Given the description of an element on the screen output the (x, y) to click on. 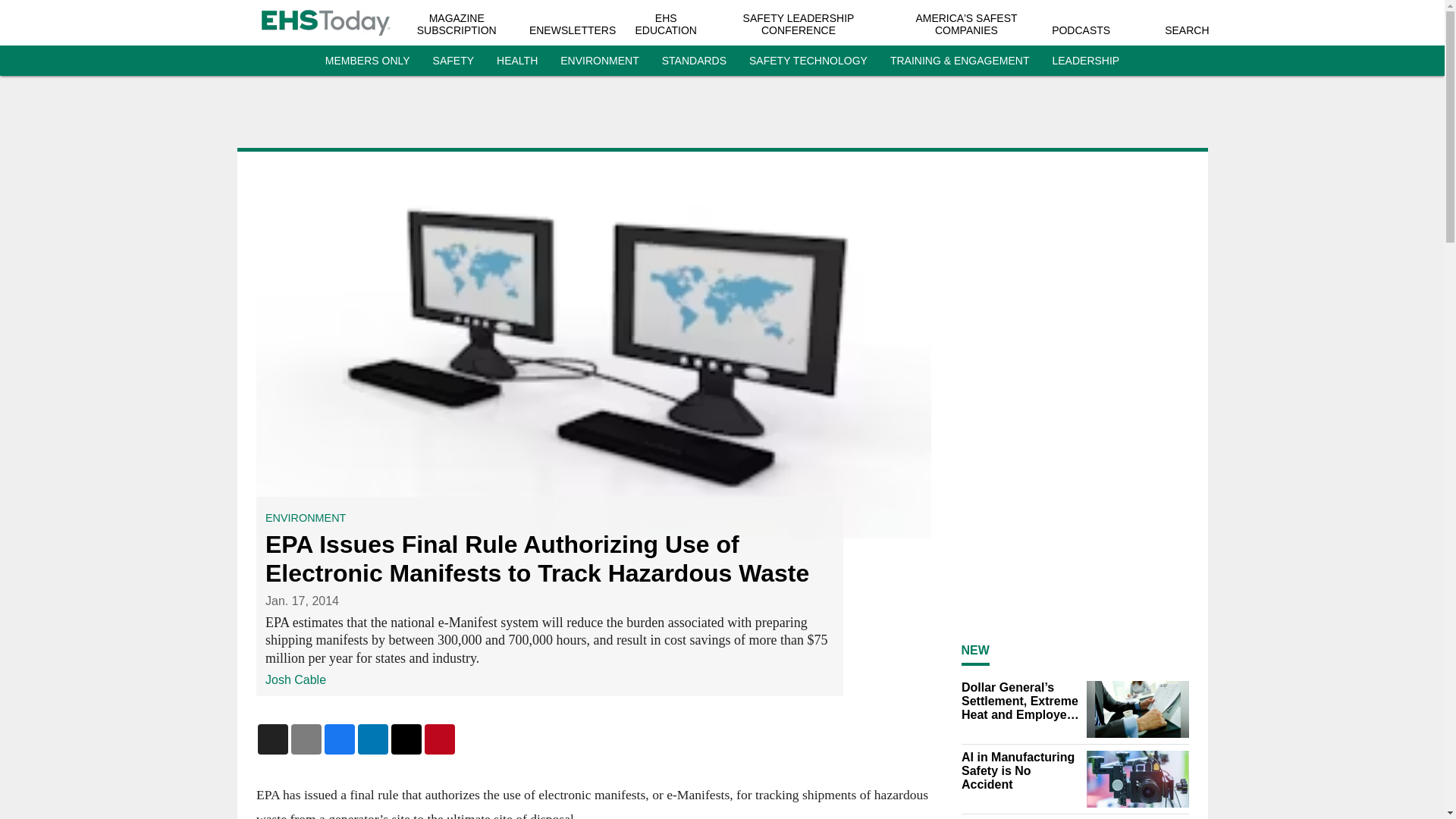
LEADERSHIP (1085, 60)
ENVIRONMENT (305, 517)
ENEWSLETTERS (572, 30)
AMERICA'S SAFEST COMPANIES (965, 24)
MEMBERS ONLY (367, 60)
HEALTH (516, 60)
SAFETY TECHNOLOGY (808, 60)
Josh Cable (295, 679)
SAFETY LEADERSHIP CONFERENCE (798, 24)
EHS EDUCATION (665, 24)
